Given the description of an element on the screen output the (x, y) to click on. 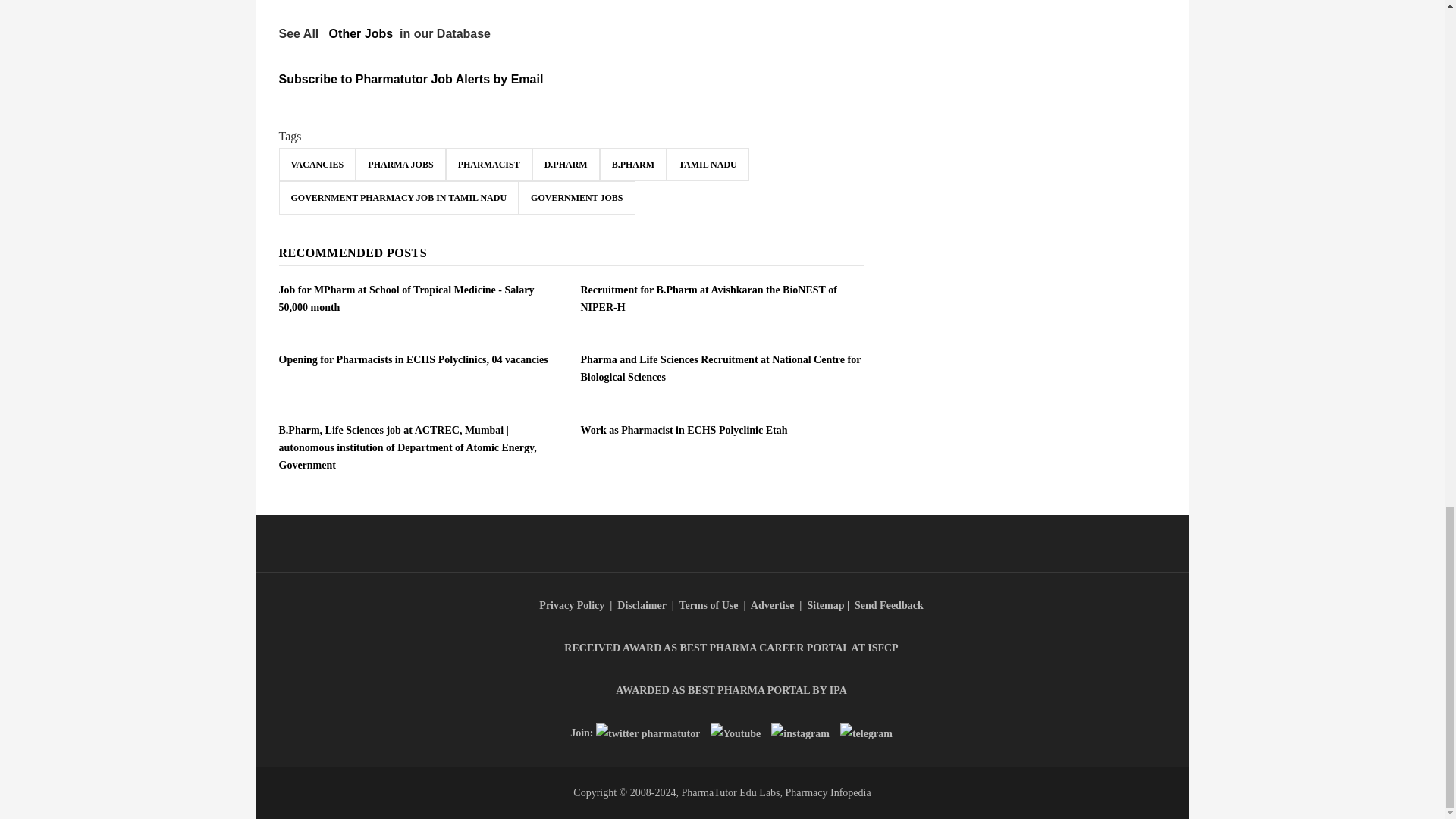
VACANCIES (317, 164)
Other Jobs (361, 33)
Subscribe to Pharmatutor Job Alerts by Email (411, 78)
